Given the description of an element on the screen output the (x, y) to click on. 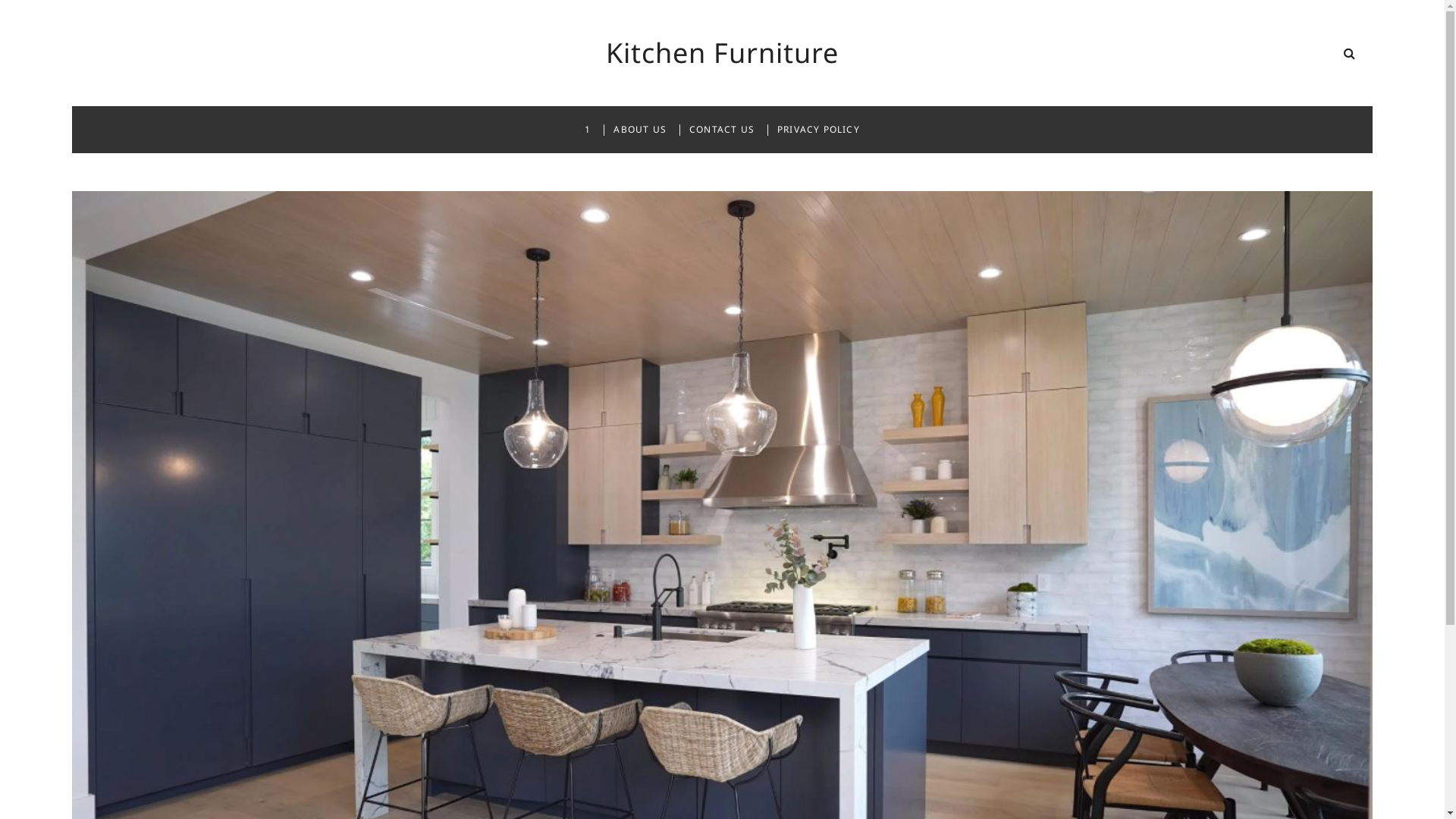
CONTACT US Element type: text (721, 129)
PRIVACY POLICY Element type: text (818, 129)
ABOUT US Element type: text (639, 129)
1 Element type: text (587, 129)
Kitchen Furniture Element type: text (722, 52)
